Given the description of an element on the screen output the (x, y) to click on. 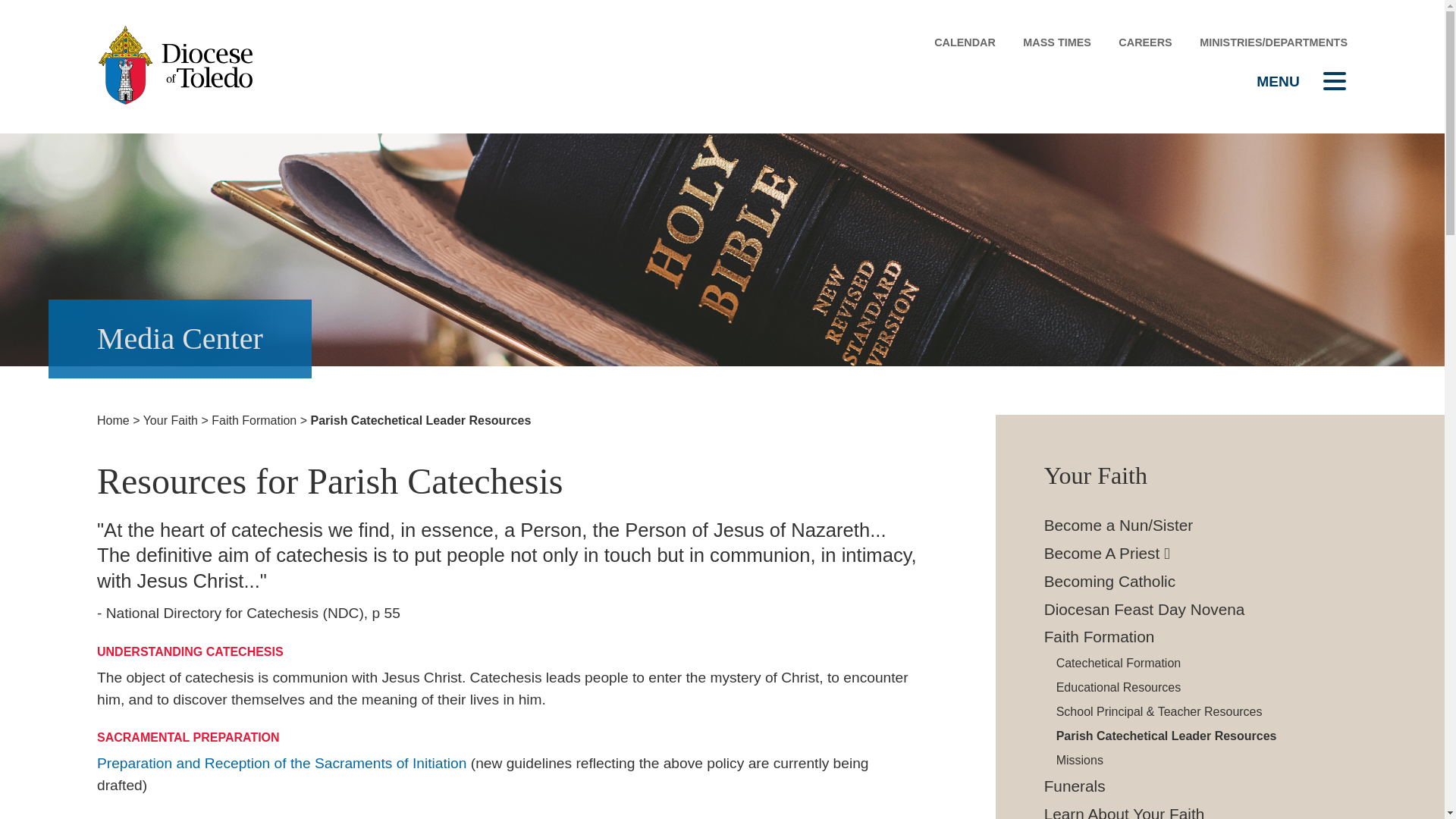
Your Faith (170, 420)
Home (113, 420)
MASS TIMES (1056, 40)
Faith Formation (254, 420)
CAREERS (1144, 40)
CALENDAR (964, 40)
Preparation and Reception of the Sacraments of Initiation (281, 763)
